Given the description of an element on the screen output the (x, y) to click on. 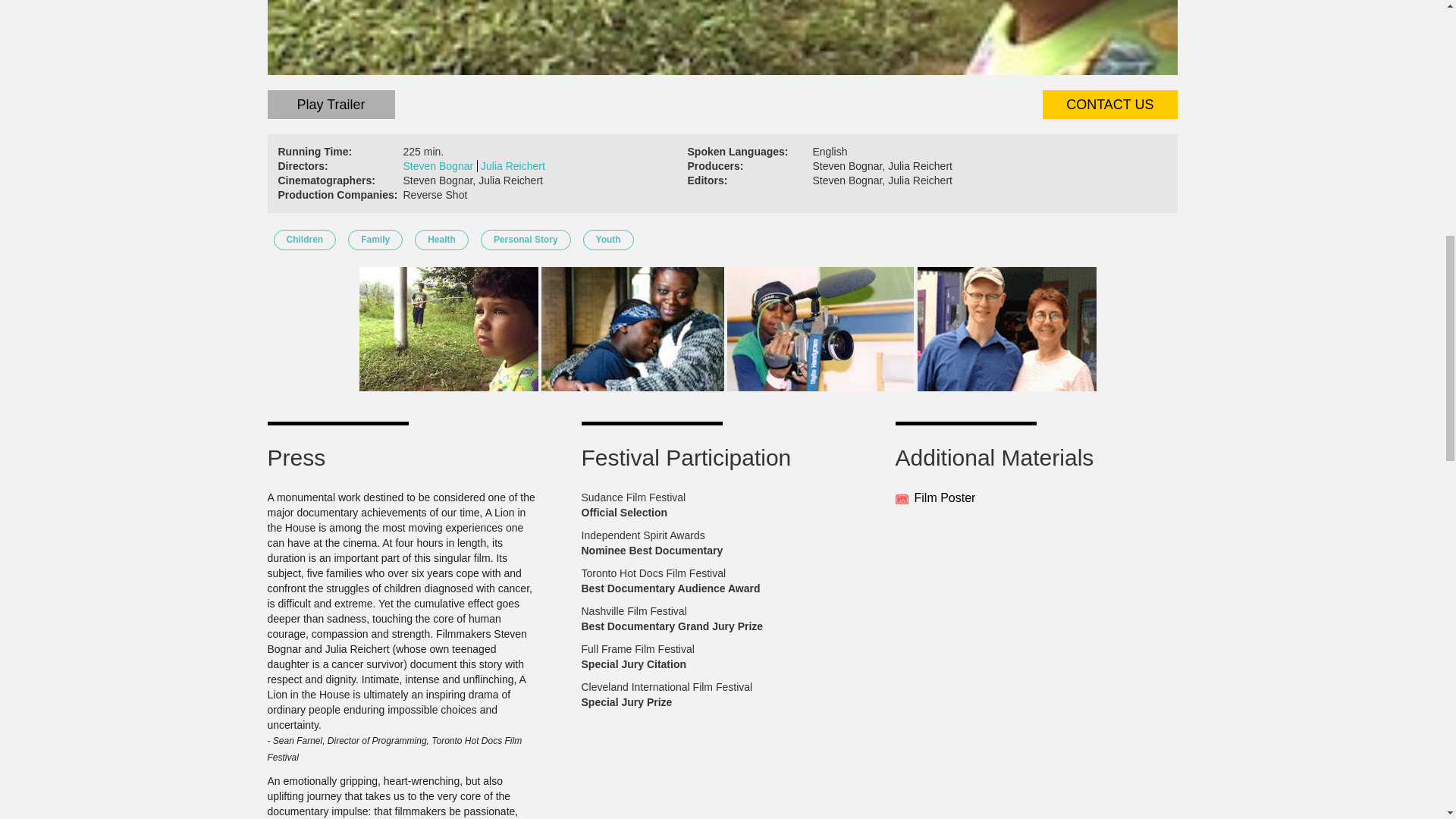
CONTACT US (1109, 104)
Youth (608, 239)
Health (441, 239)
Family (375, 239)
Children (304, 239)
Children (304, 239)
Julia Reichert (514, 165)
Personal Story (525, 239)
Family (375, 239)
Personal Story (525, 239)
Health (441, 239)
Steven Bognar (441, 165)
Play Trailer (330, 104)
